Given the description of an element on the screen output the (x, y) to click on. 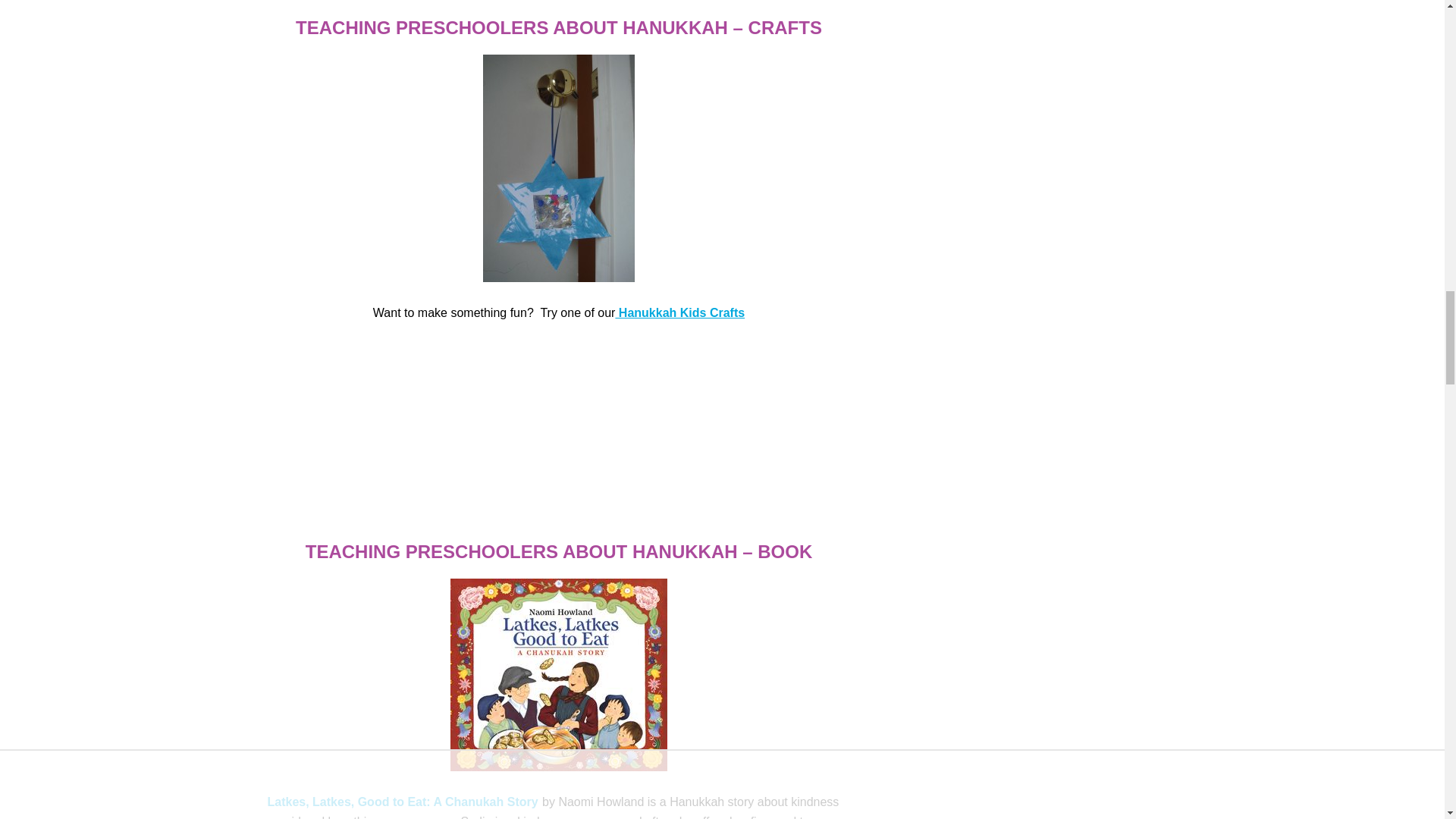
Latkes, Latkes, Good to Eat: A Chanukah Story (401, 801)
Hanukkah Kids Crafts (679, 312)
